Given the description of an element on the screen output the (x, y) to click on. 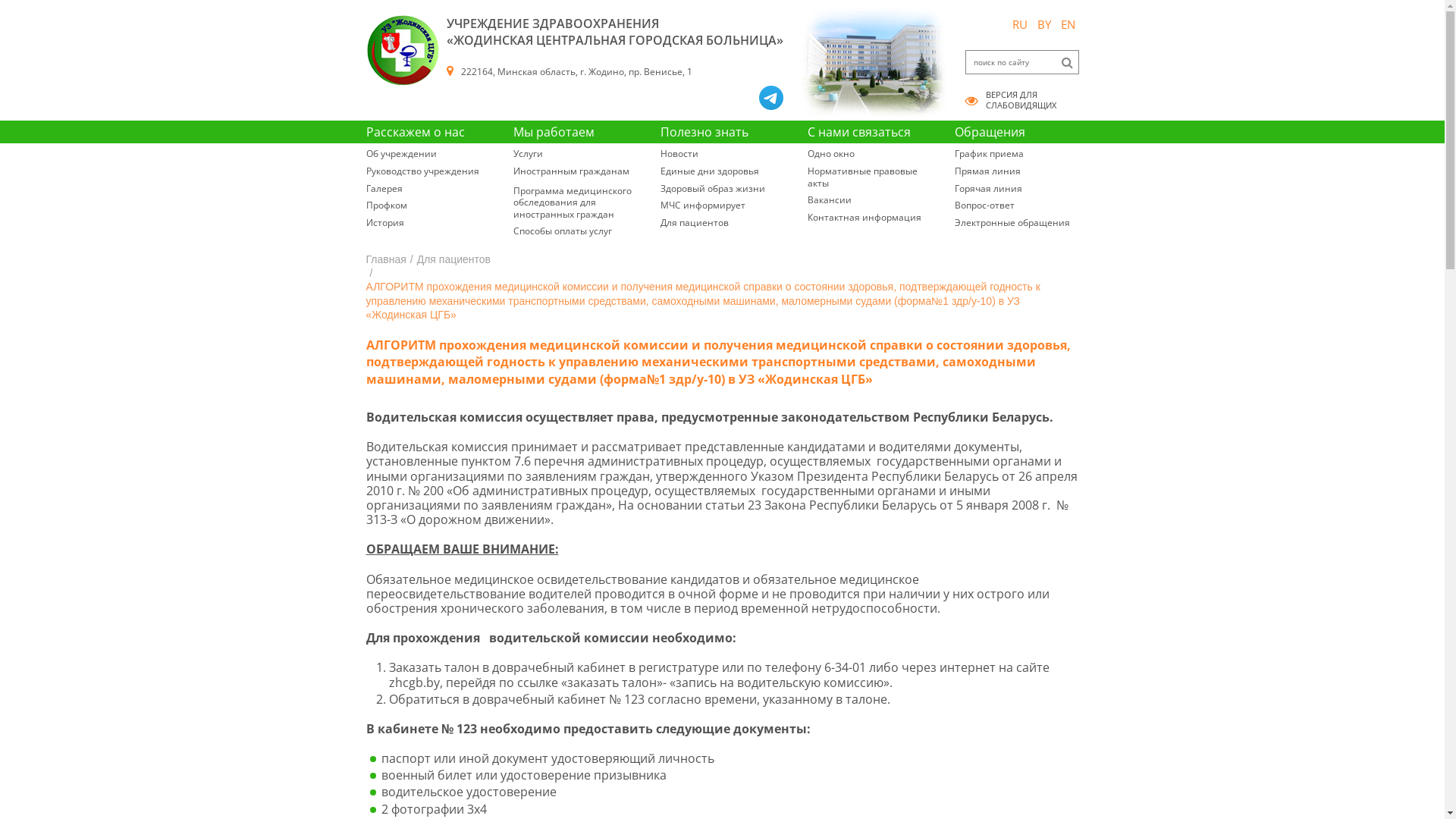
EN Element type: text (1068, 23)
RU Element type: text (1019, 23)
BY Element type: text (1043, 23)
